Given the description of an element on the screen output the (x, y) to click on. 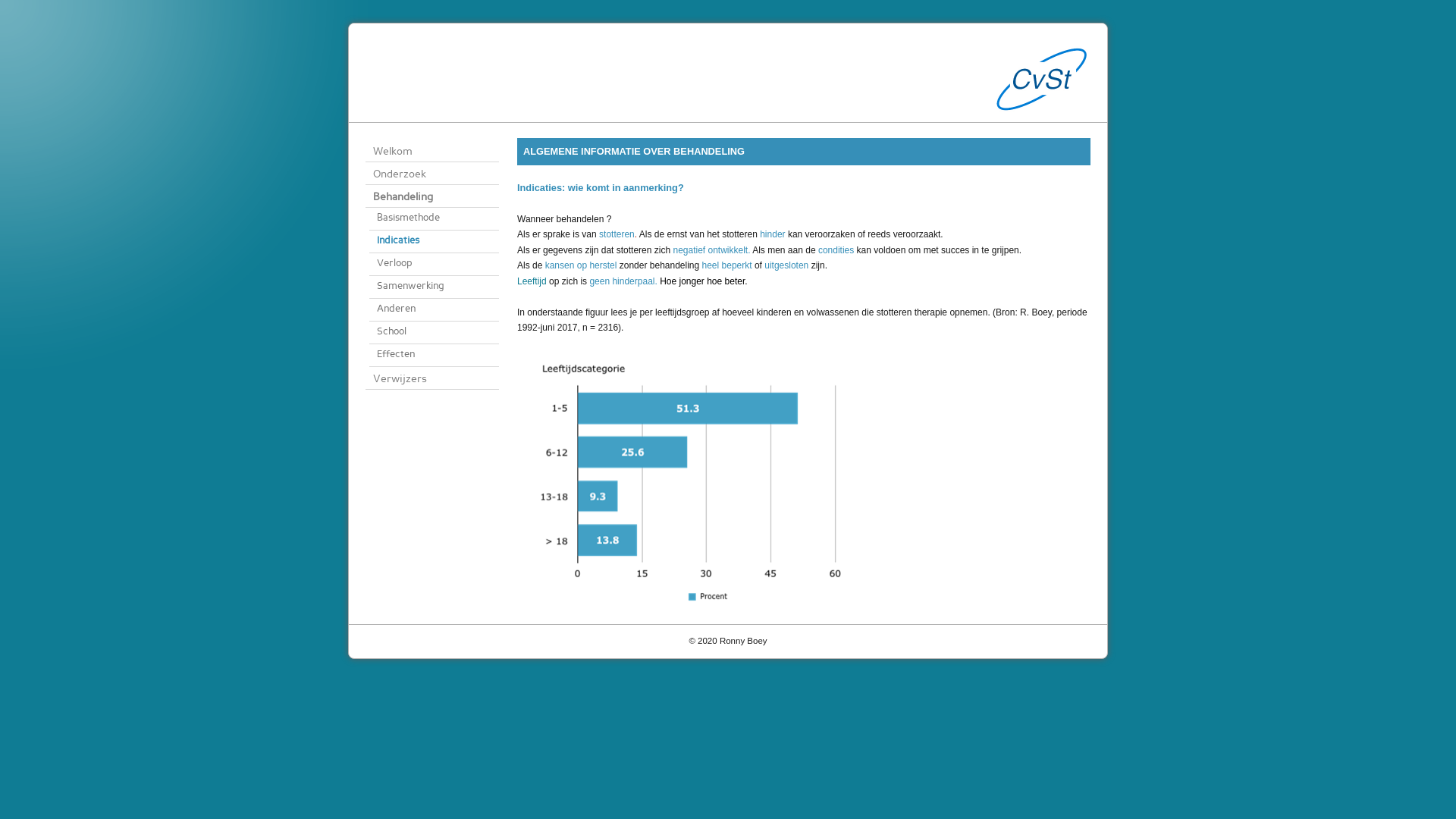
Basismethode Element type: text (433, 218)
Effecten Element type: text (433, 355)
Verloop Element type: text (433, 264)
School Element type: text (433, 332)
Behandeling Element type: text (431, 196)
Verwijzers Element type: text (431, 378)
Onderzoek Element type: text (431, 173)
Samenwerking Element type: text (433, 287)
Welkom Element type: text (431, 150)
Anderen Element type: text (433, 309)
Indicaties Element type: text (433, 241)
